Given the description of an element on the screen output the (x, y) to click on. 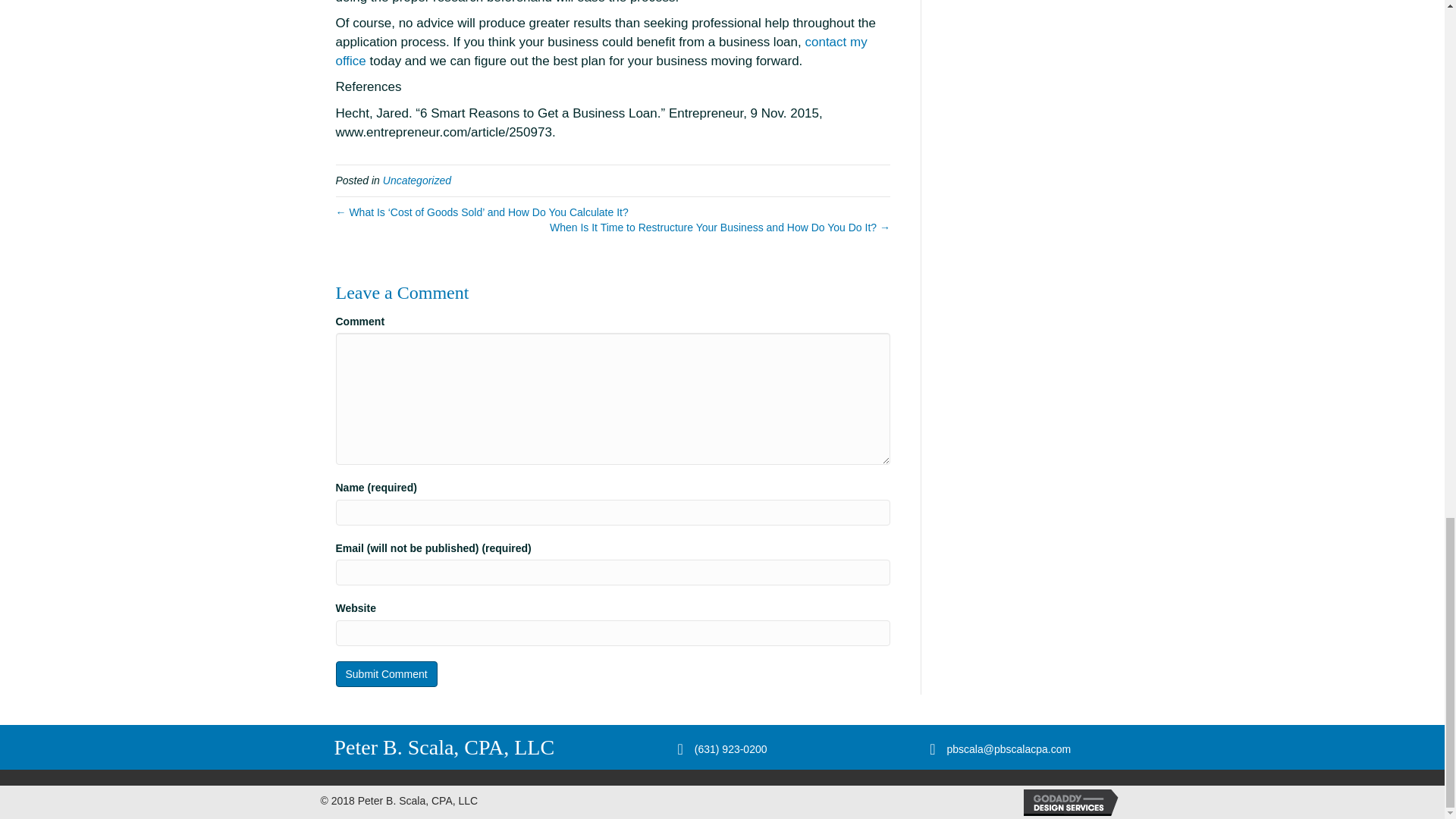
Uncategorized (416, 180)
Submit Comment (385, 673)
contact my office (600, 51)
Submit Comment (385, 673)
